Given the description of an element on the screen output the (x, y) to click on. 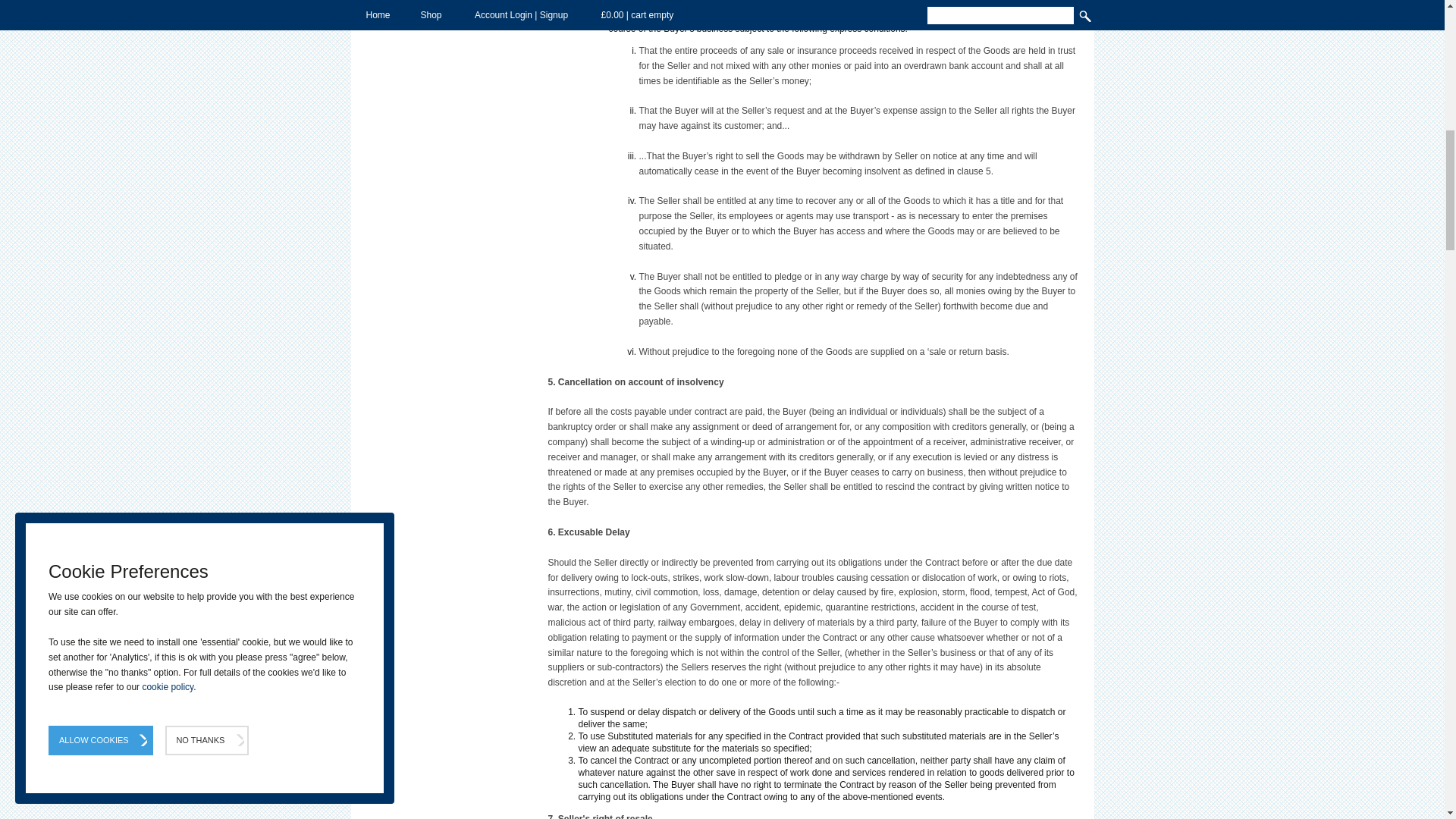
Latest News (448, 10)
